Given the description of an element on the screen output the (x, y) to click on. 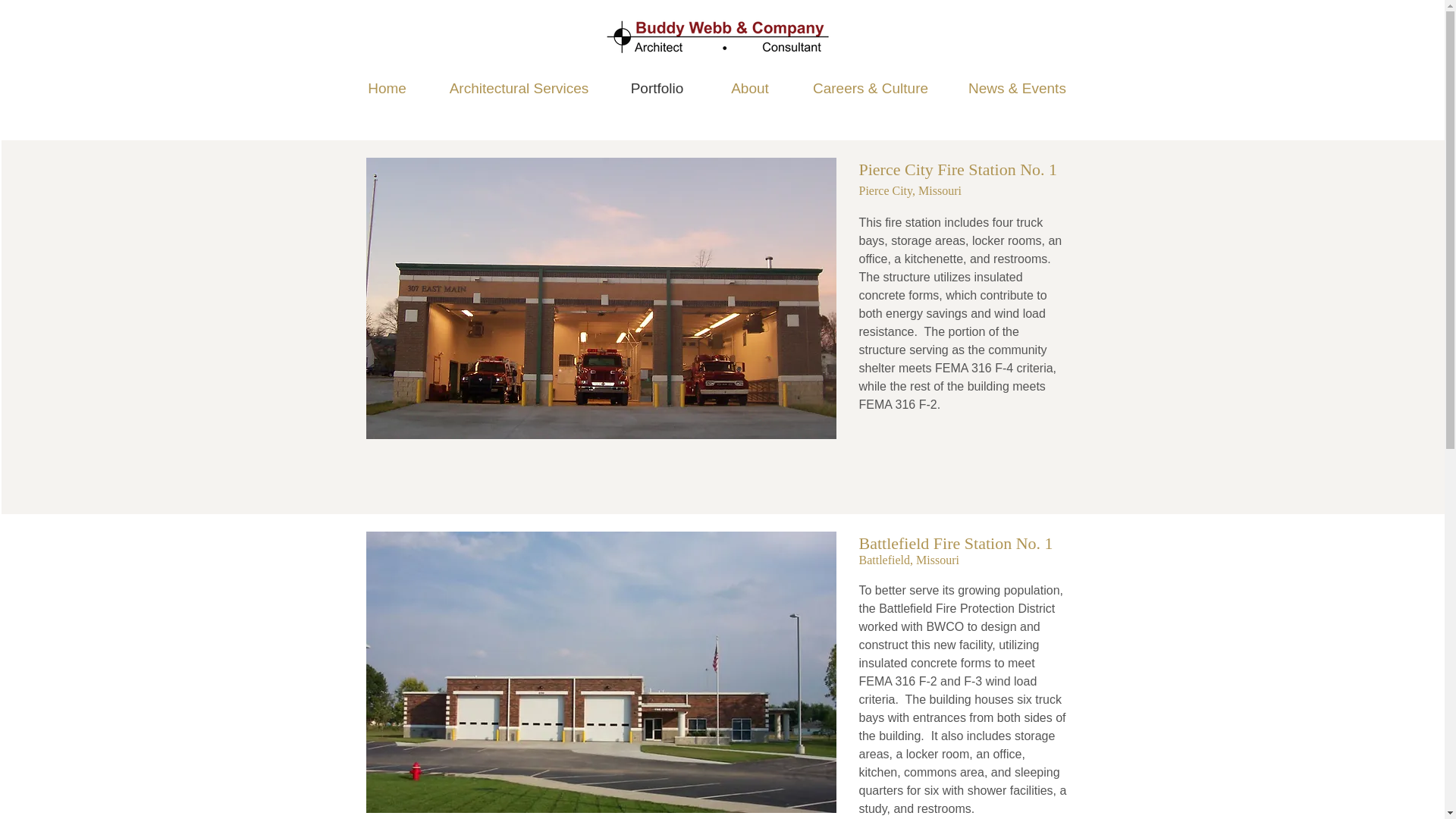
Architectural Services (518, 88)
Home (386, 88)
About (749, 88)
Portfolio (656, 88)
